Given the description of an element on the screen output the (x, y) to click on. 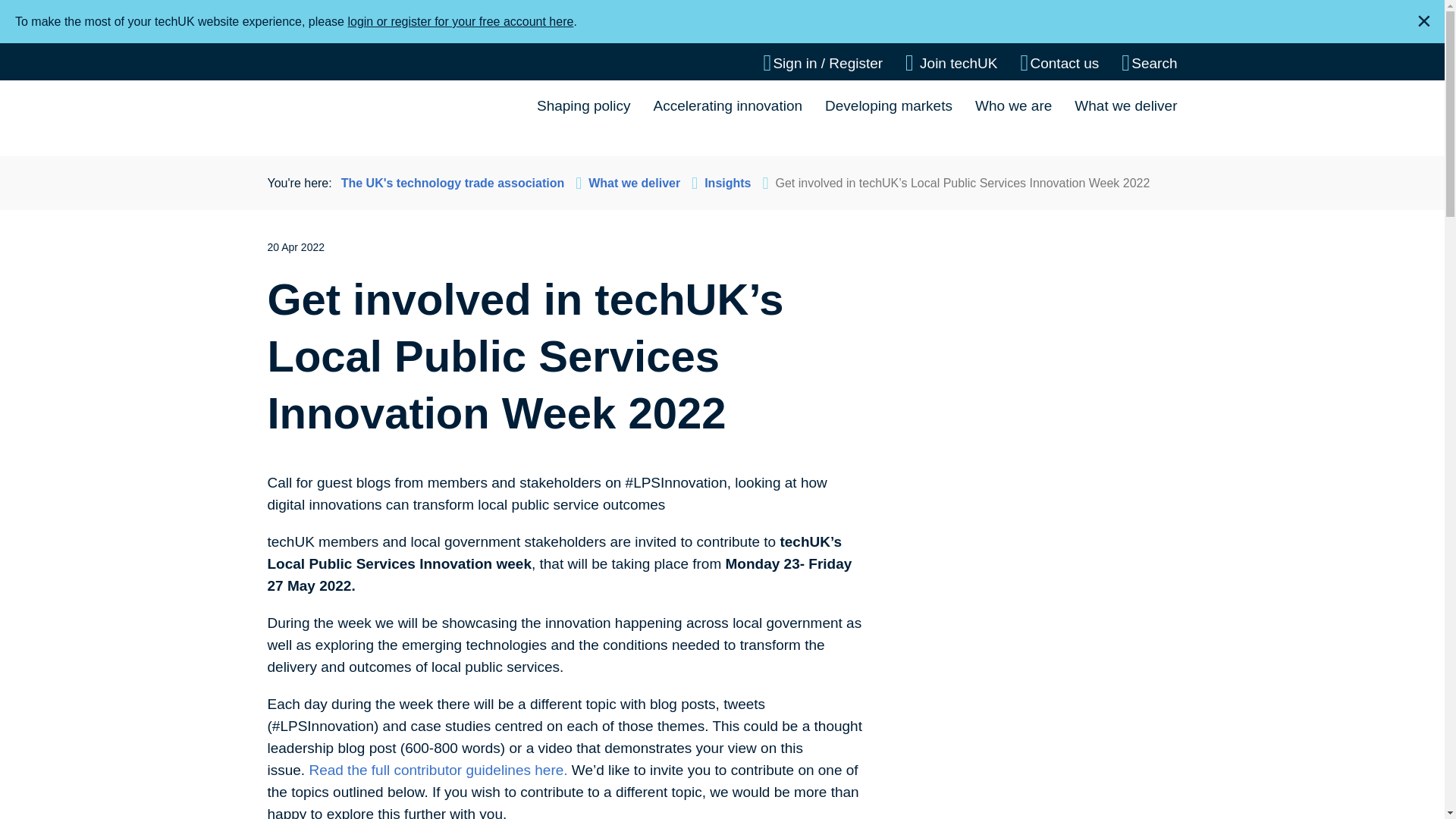
Accelerating innovation (727, 105)
login or register for your free account here (460, 21)
Search (1148, 62)
Shaping policy (583, 105)
Join techUK (951, 62)
Contact us (1059, 62)
